Given the description of an element on the screen output the (x, y) to click on. 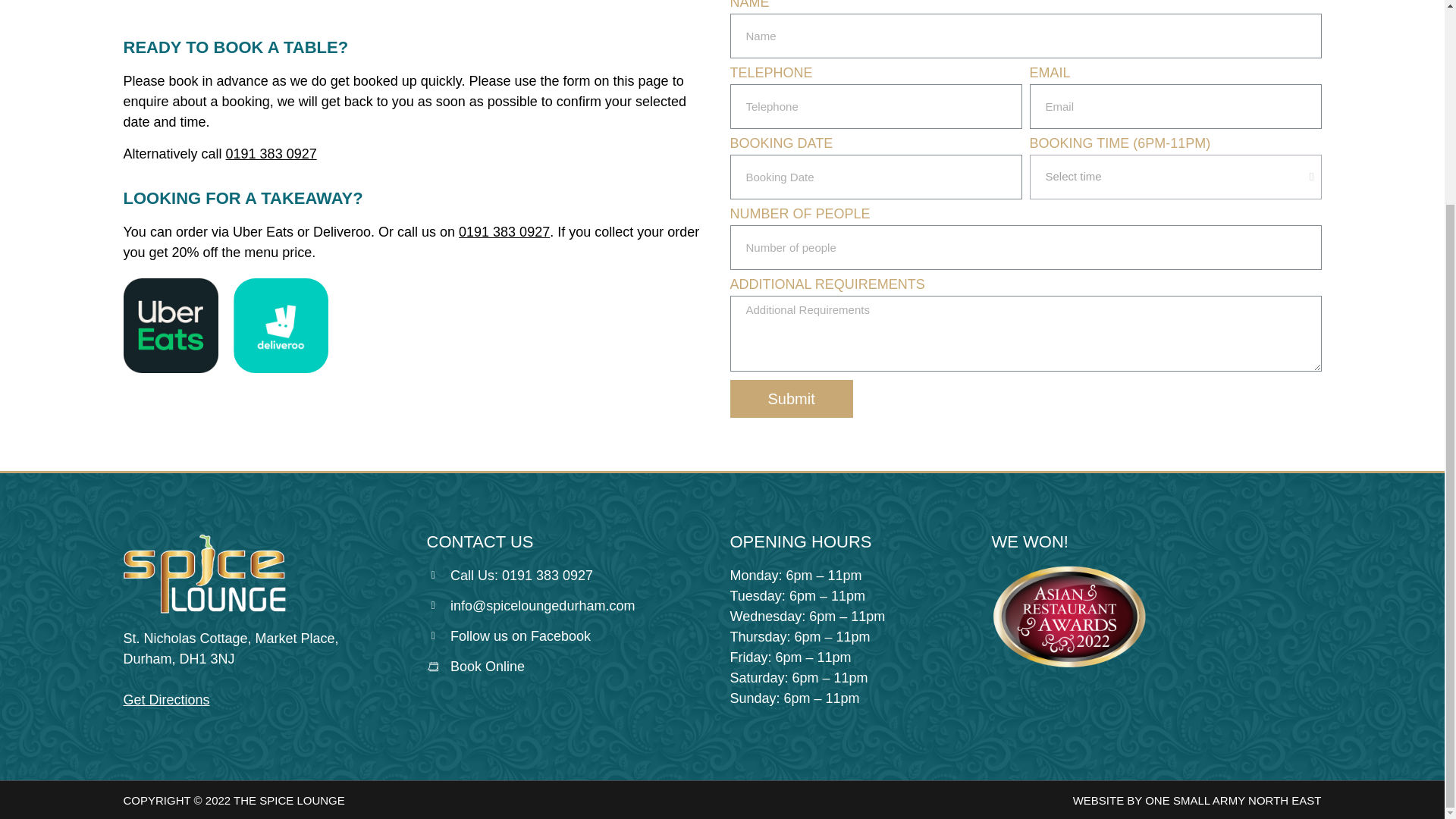
Follow us on Facebook (570, 636)
Book Online (570, 666)
Submit (790, 398)
0191 383 0927 (271, 153)
Get Directions (165, 699)
0191 383 0927 (504, 231)
download-9 (169, 325)
